Given the description of an element on the screen output the (x, y) to click on. 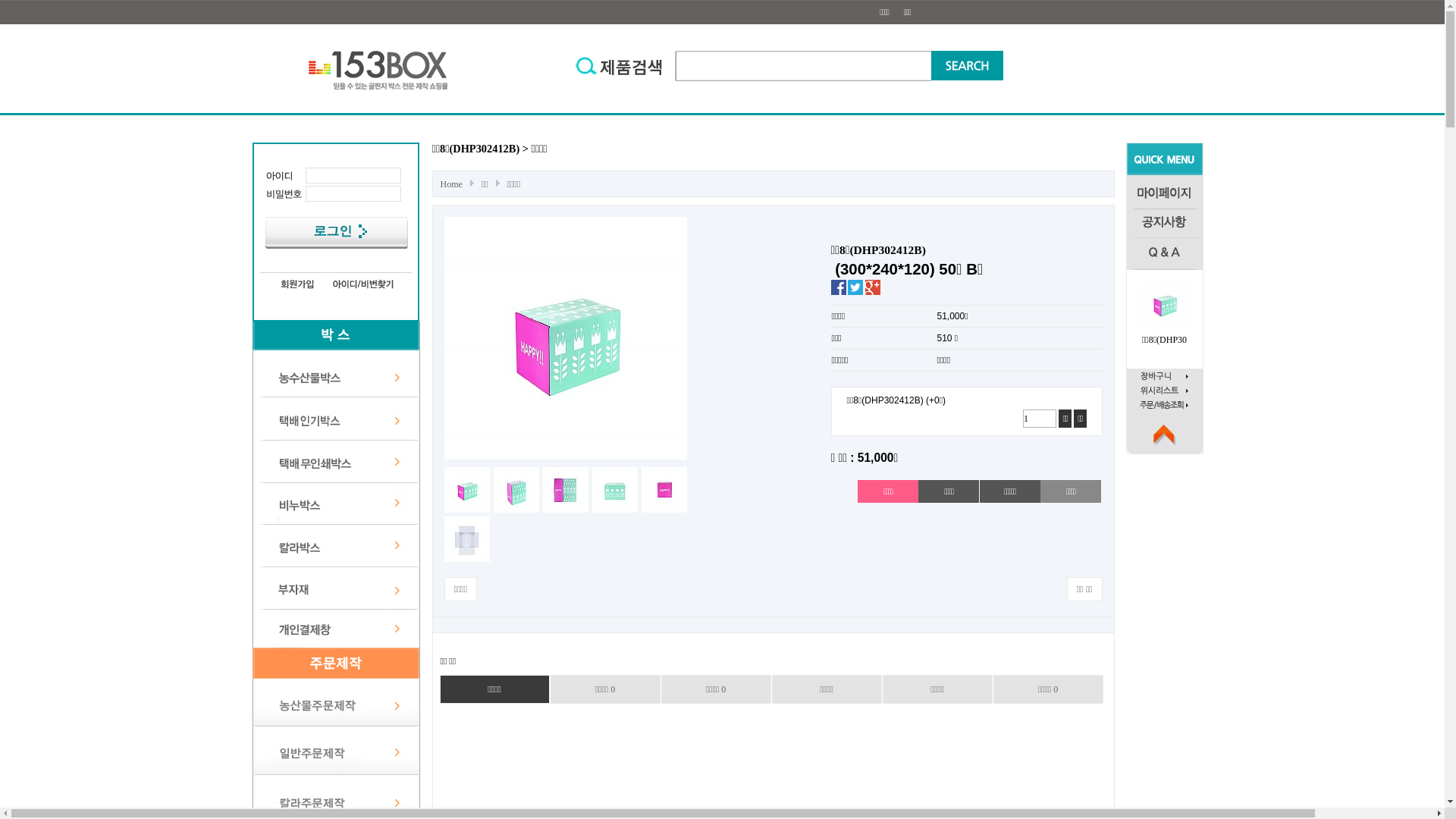
Home Element type: text (452, 183)
